Given the description of an element on the screen output the (x, y) to click on. 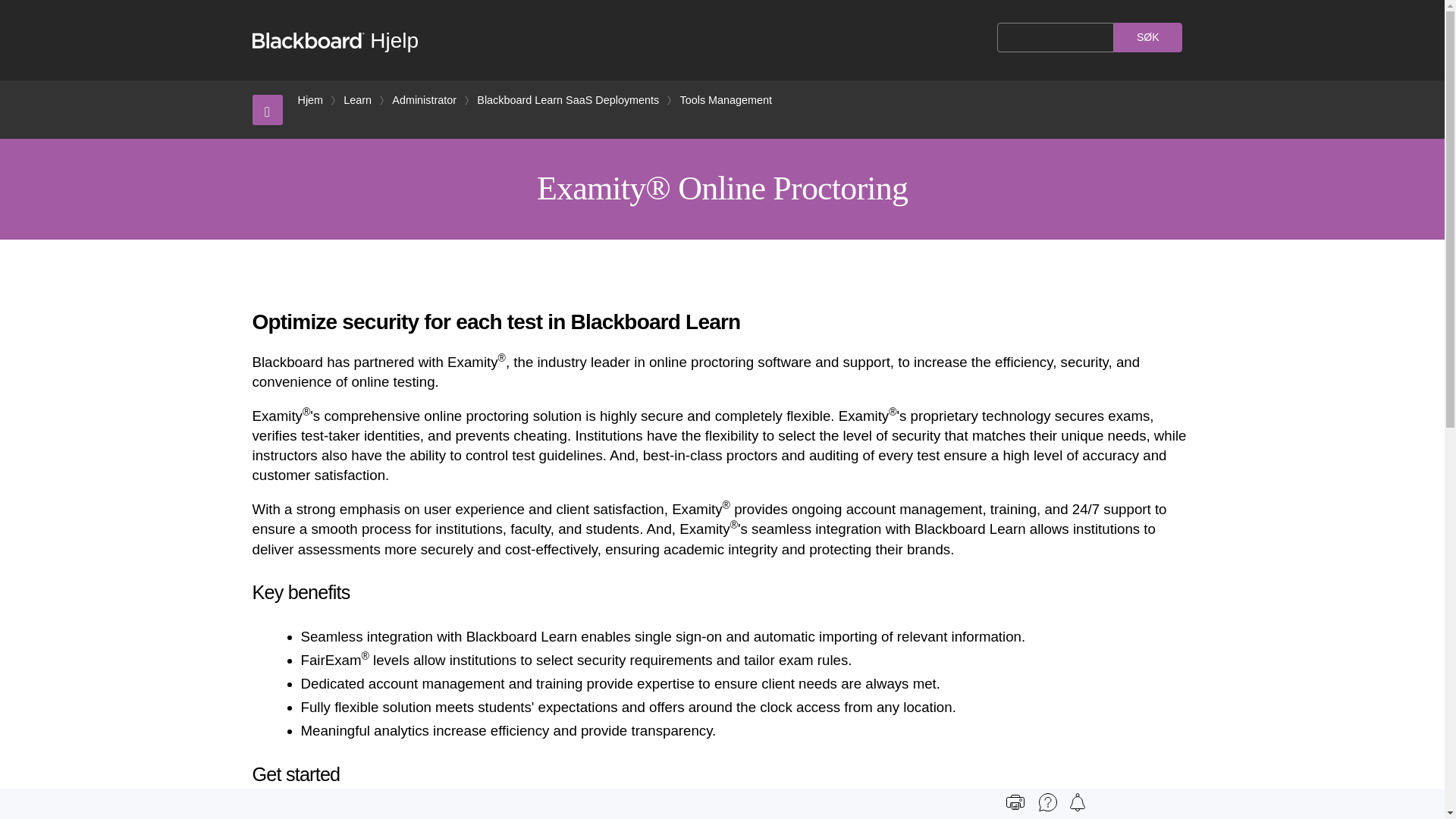
Blackboard Hjelp (335, 40)
Hjem (310, 99)
Administrator (424, 99)
Blackboard Learn SaaS Deployments (568, 99)
Learn (357, 99)
Tools Management (725, 99)
